Given the description of an element on the screen output the (x, y) to click on. 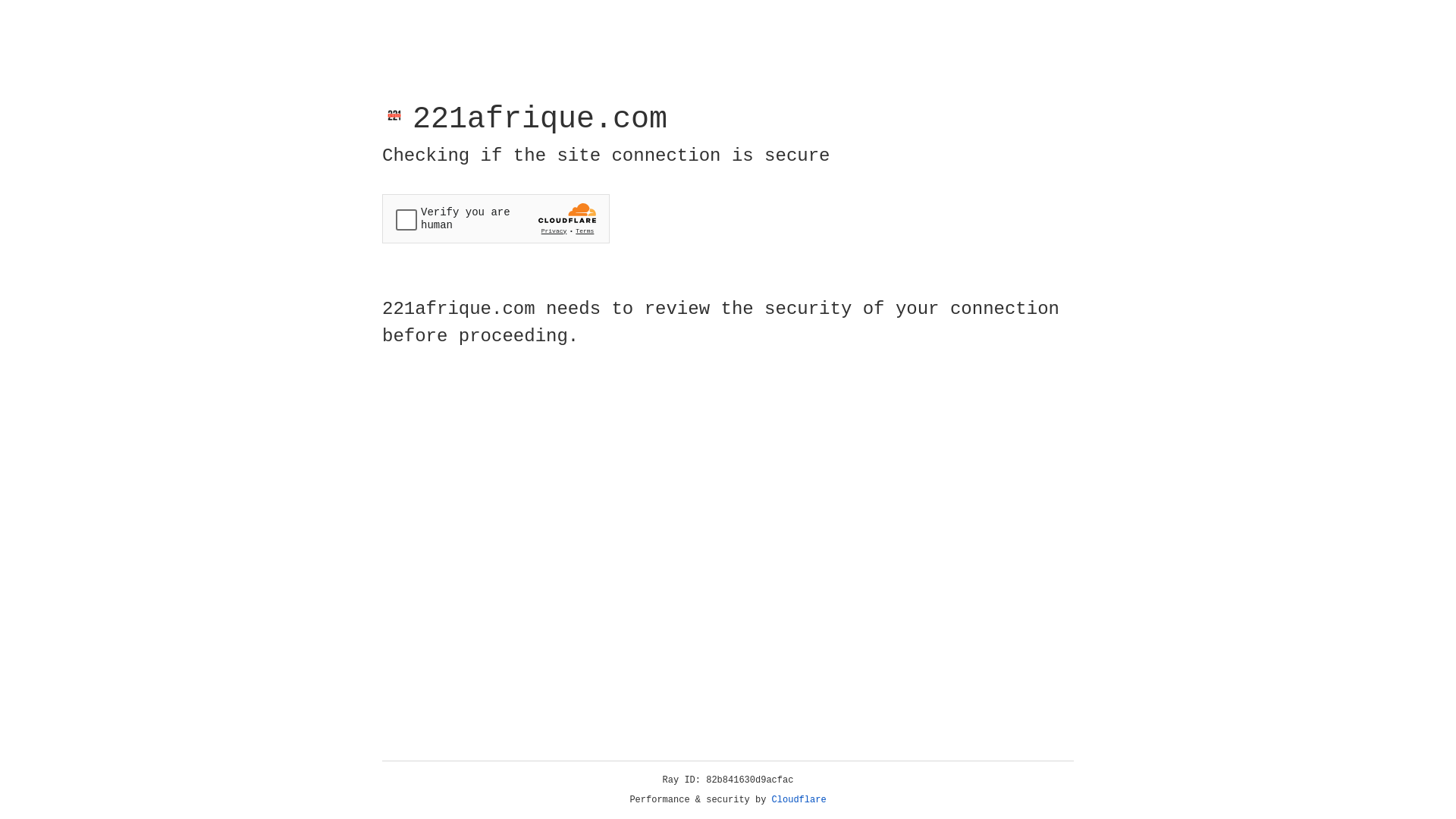
Widget containing a Cloudflare security challenge Element type: hover (495, 218)
Cloudflare Element type: text (798, 799)
